Given the description of an element on the screen output the (x, y) to click on. 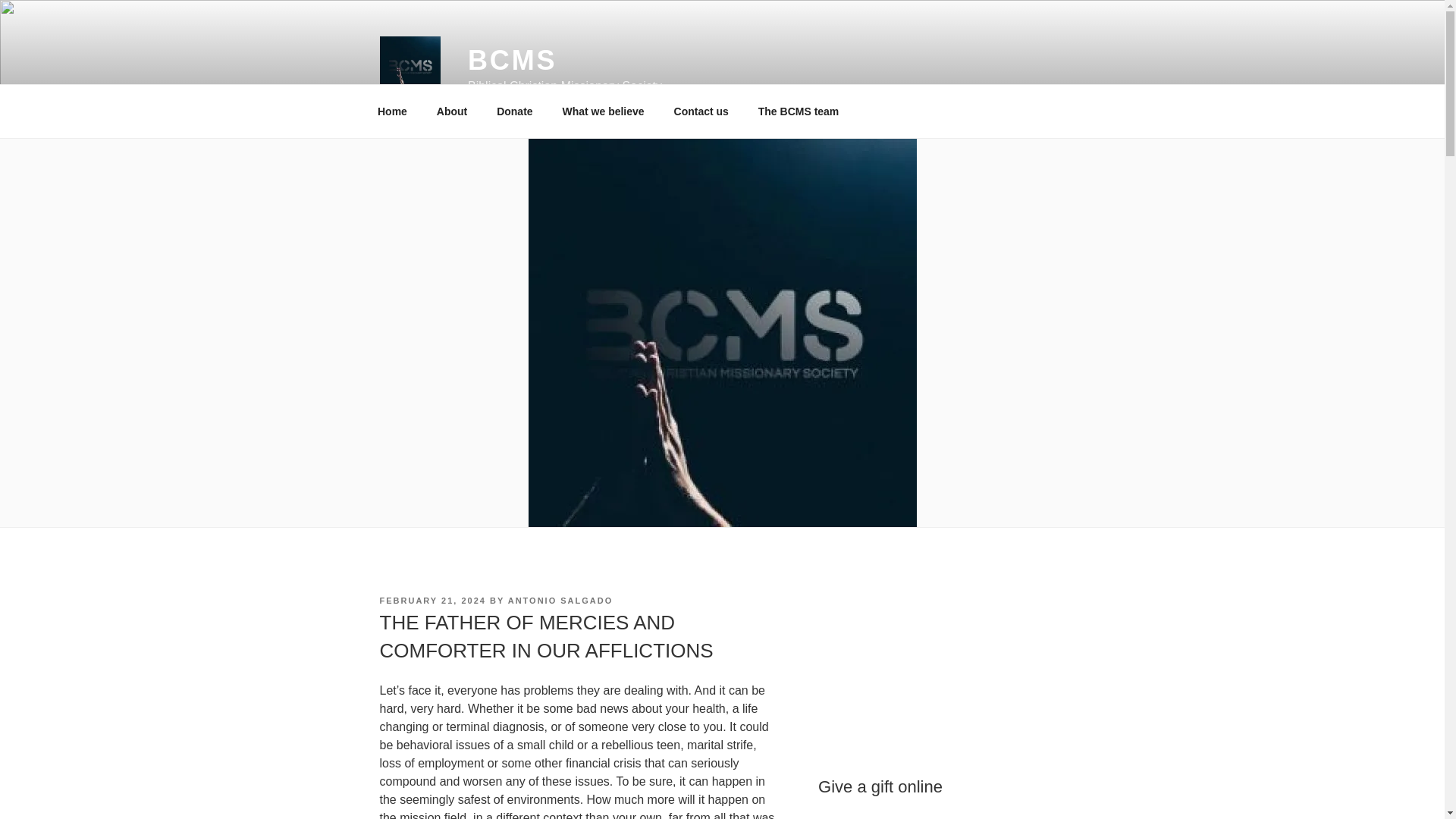
Home (392, 110)
About (451, 110)
ANTONIO SALGADO (560, 600)
Donate (514, 110)
FEBRUARY 21, 2024 (431, 600)
BCMS (512, 60)
Contact us (701, 110)
What we believe (603, 110)
The BCMS team (797, 110)
